Given the description of an element on the screen output the (x, y) to click on. 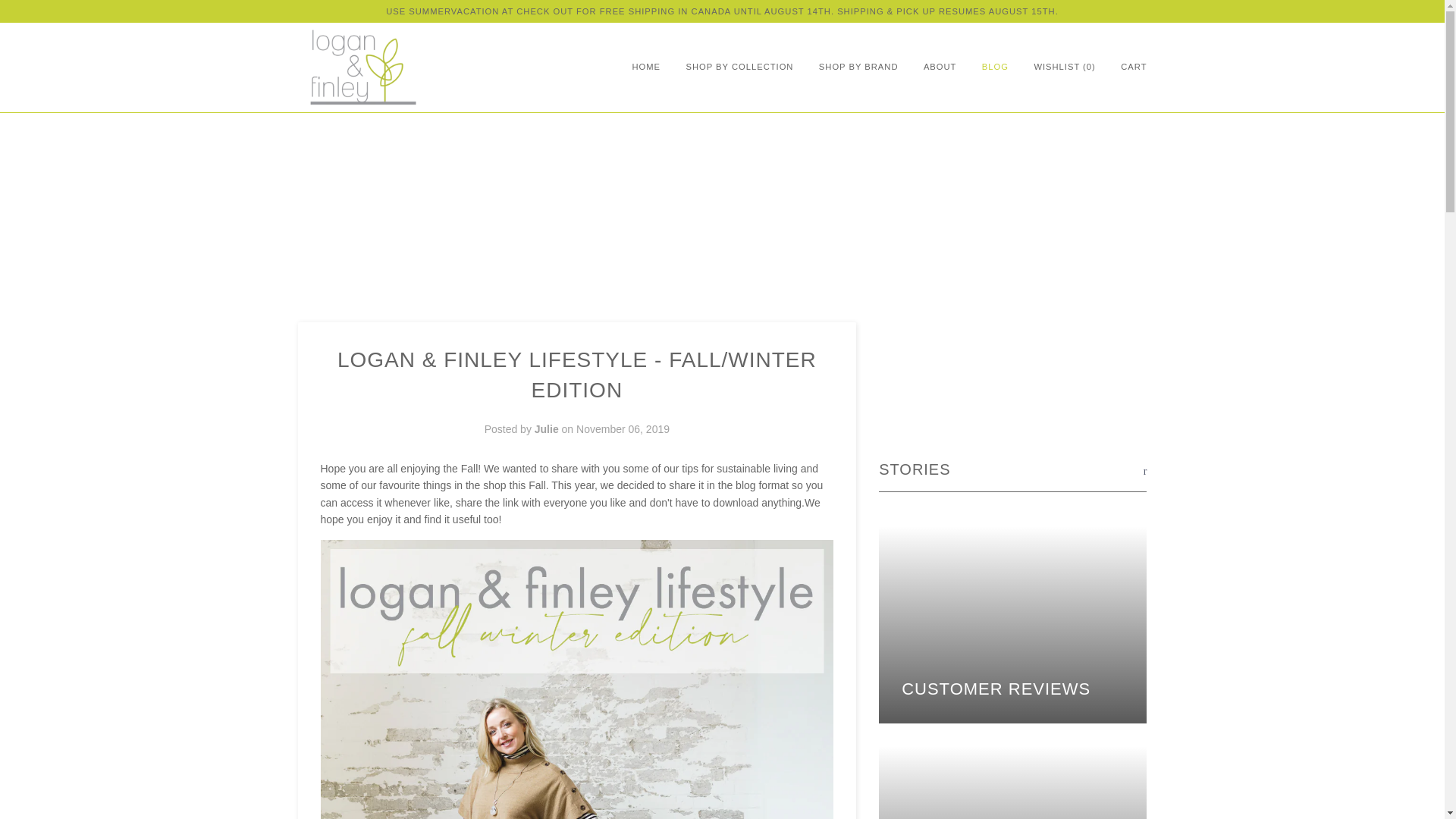
BLOG (995, 67)
SHOP BY COLLECTION (739, 67)
HOME (646, 67)
SHOP BY BRAND (858, 67)
ABOUT (939, 67)
